Given the description of an element on the screen output the (x, y) to click on. 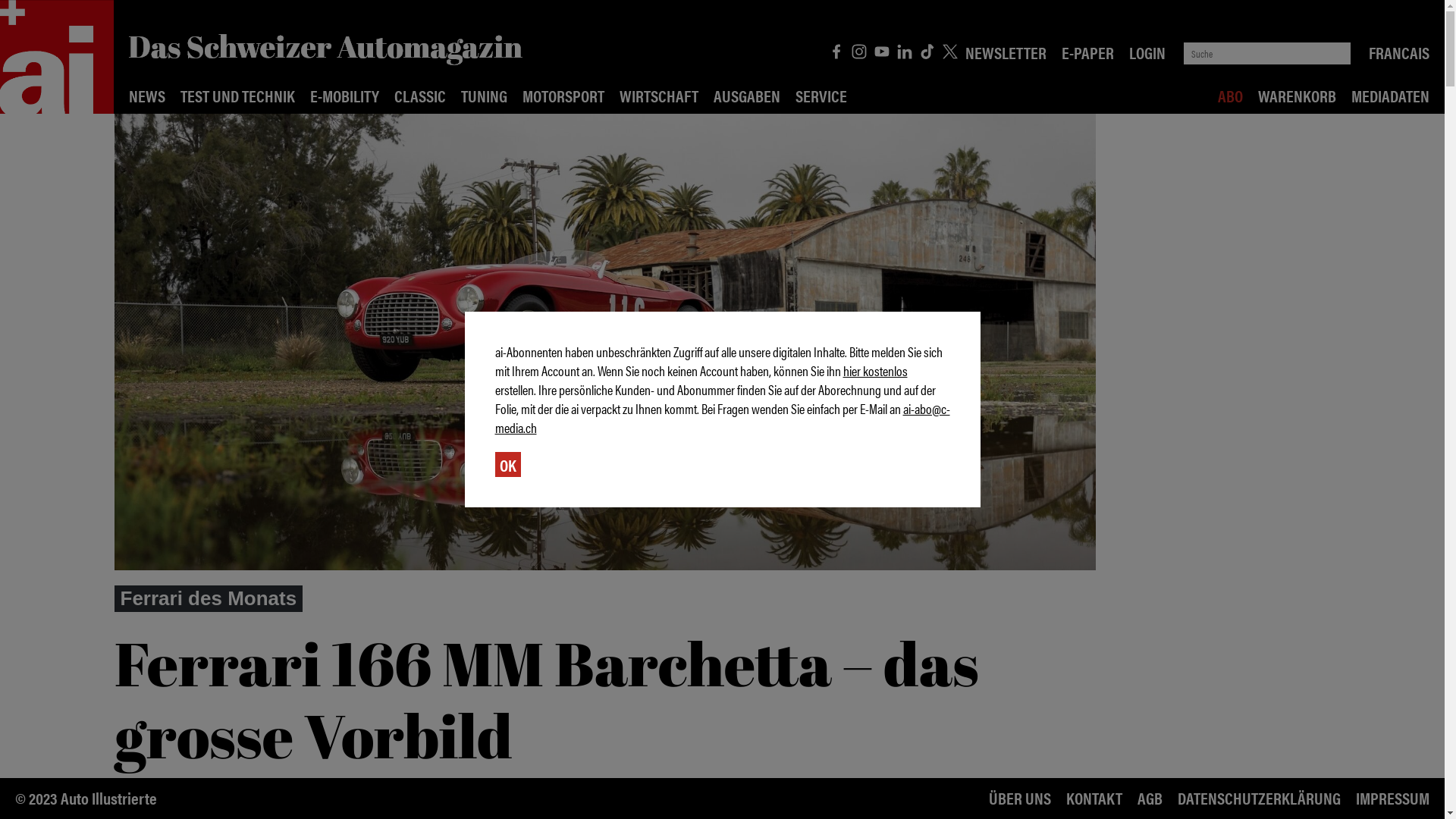
AUSGABEN Element type: text (746, 94)
OK Element type: text (507, 463)
TUNING Element type: text (484, 94)
CLASSIC Element type: text (419, 94)
ABO Element type: text (1229, 94)
ai-abo@c-media.ch Element type: text (721, 417)
E-MOBILITY Element type: text (344, 94)
NEWSLETTER Element type: text (1005, 51)
AGB Element type: text (1149, 797)
MEDIADATEN Element type: text (1390, 94)
TEST UND TECHNIK Element type: text (237, 94)
WARENKORB Element type: text (1297, 94)
hier kostenlos Element type: text (875, 369)
KONTAKT Element type: text (1094, 797)
IMPRESSUM Element type: text (1392, 797)
WIRTSCHAFT Element type: text (658, 94)
MOTORSPORT Element type: text (563, 94)
NEWS Element type: text (146, 94)
E-PAPER Element type: text (1087, 51)
FRANCAIS Element type: text (1398, 51)
LOGIN Element type: text (1147, 51)
SERVICE Element type: text (821, 94)
